Given the description of an element on the screen output the (x, y) to click on. 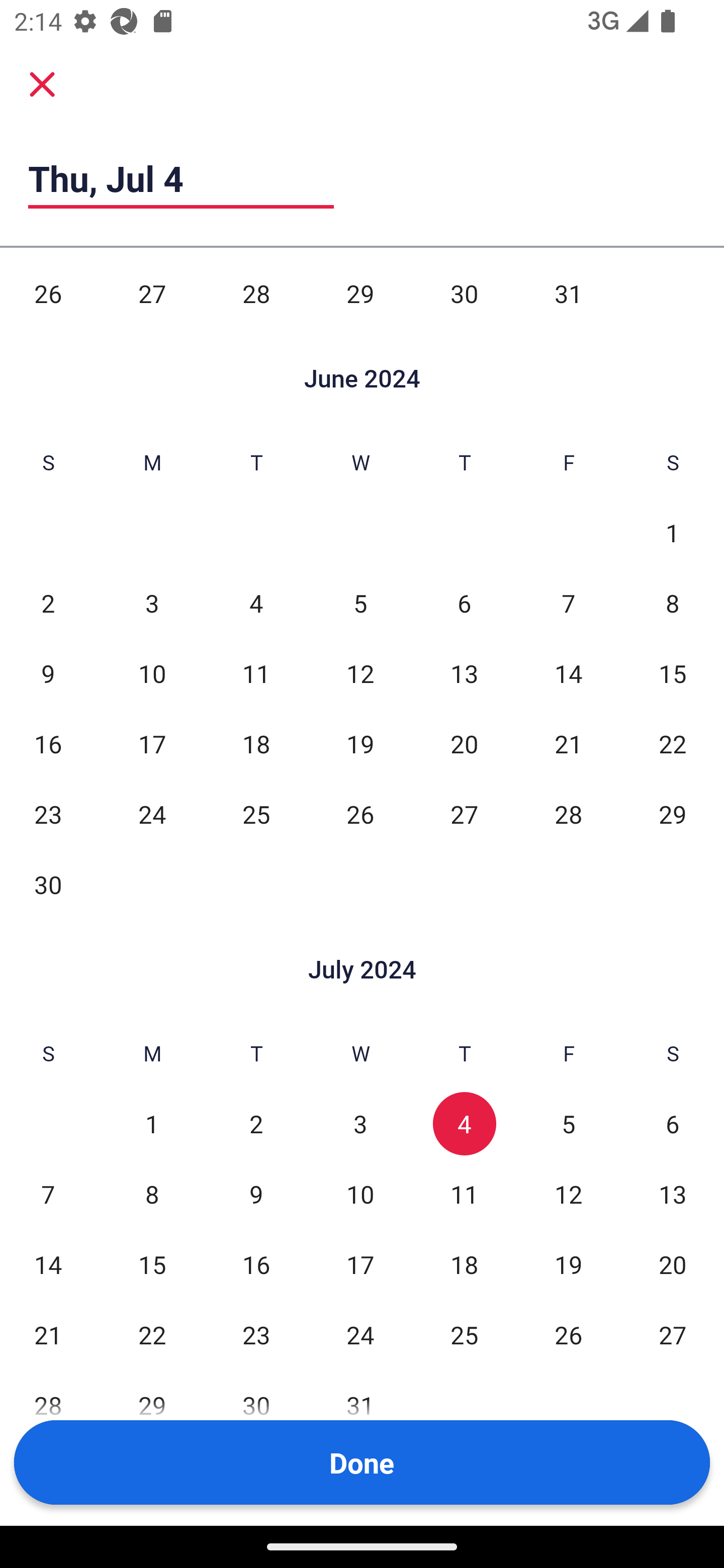
Cancel (41, 83)
Thu, Jul 4 (180, 178)
26 Sun, May 26, Not Selected (48, 293)
27 Mon, May 27, Not Selected (152, 293)
28 Tue, May 28, Not Selected (256, 293)
29 Wed, May 29, Not Selected (360, 293)
30 Thu, May 30, Not Selected (464, 293)
31 Fri, May 31, Not Selected (568, 293)
1 Sat, Jun 1, Not Selected (672, 532)
2 Sun, Jun 2, Not Selected (48, 602)
3 Mon, Jun 3, Not Selected (152, 602)
4 Tue, Jun 4, Not Selected (256, 602)
5 Wed, Jun 5, Not Selected (360, 602)
6 Thu, Jun 6, Not Selected (464, 602)
7 Fri, Jun 7, Not Selected (568, 602)
8 Sat, Jun 8, Not Selected (672, 602)
9 Sun, Jun 9, Not Selected (48, 673)
10 Mon, Jun 10, Not Selected (152, 673)
11 Tue, Jun 11, Not Selected (256, 673)
12 Wed, Jun 12, Not Selected (360, 673)
13 Thu, Jun 13, Not Selected (464, 673)
14 Fri, Jun 14, Not Selected (568, 673)
15 Sat, Jun 15, Not Selected (672, 673)
16 Sun, Jun 16, Not Selected (48, 743)
17 Mon, Jun 17, Not Selected (152, 743)
18 Tue, Jun 18, Not Selected (256, 743)
19 Wed, Jun 19, Not Selected (360, 743)
20 Thu, Jun 20, Not Selected (464, 743)
21 Fri, Jun 21, Not Selected (568, 743)
22 Sat, Jun 22, Not Selected (672, 743)
23 Sun, Jun 23, Not Selected (48, 814)
24 Mon, Jun 24, Not Selected (152, 814)
25 Tue, Jun 25, Not Selected (256, 814)
26 Wed, Jun 26, Not Selected (360, 814)
27 Thu, Jun 27, Not Selected (464, 814)
28 Fri, Jun 28, Not Selected (568, 814)
29 Sat, Jun 29, Not Selected (672, 814)
30 Sun, Jun 30, Not Selected (48, 884)
1 Mon, Jul 1, Not Selected (152, 1123)
2 Tue, Jul 2, Not Selected (256, 1123)
3 Wed, Jul 3, Not Selected (360, 1123)
4 Thu, Jul 4, Selected (464, 1123)
5 Fri, Jul 5, Not Selected (568, 1123)
6 Sat, Jul 6, Not Selected (672, 1123)
7 Sun, Jul 7, Not Selected (48, 1193)
8 Mon, Jul 8, Not Selected (152, 1193)
9 Tue, Jul 9, Not Selected (256, 1193)
10 Wed, Jul 10, Not Selected (360, 1193)
11 Thu, Jul 11, Not Selected (464, 1193)
12 Fri, Jul 12, Not Selected (568, 1193)
13 Sat, Jul 13, Not Selected (672, 1193)
14 Sun, Jul 14, Not Selected (48, 1264)
15 Mon, Jul 15, Not Selected (152, 1264)
16 Tue, Jul 16, Not Selected (256, 1264)
17 Wed, Jul 17, Not Selected (360, 1264)
18 Thu, Jul 18, Not Selected (464, 1264)
19 Fri, Jul 19, Not Selected (568, 1264)
20 Sat, Jul 20, Not Selected (672, 1264)
21 Sun, Jul 21, Not Selected (48, 1334)
22 Mon, Jul 22, Not Selected (152, 1334)
23 Tue, Jul 23, Not Selected (256, 1334)
24 Wed, Jul 24, Not Selected (360, 1334)
25 Thu, Jul 25, Not Selected (464, 1334)
26 Fri, Jul 26, Not Selected (568, 1334)
27 Sat, Jul 27, Not Selected (672, 1334)
28 Sun, Jul 28, Not Selected (48, 1405)
29 Mon, Jul 29, Not Selected (152, 1405)
30 Tue, Jul 30, Not Selected (256, 1405)
31 Wed, Jul 31, Not Selected (360, 1405)
Done Button Done (361, 1462)
